Given the description of an element on the screen output the (x, y) to click on. 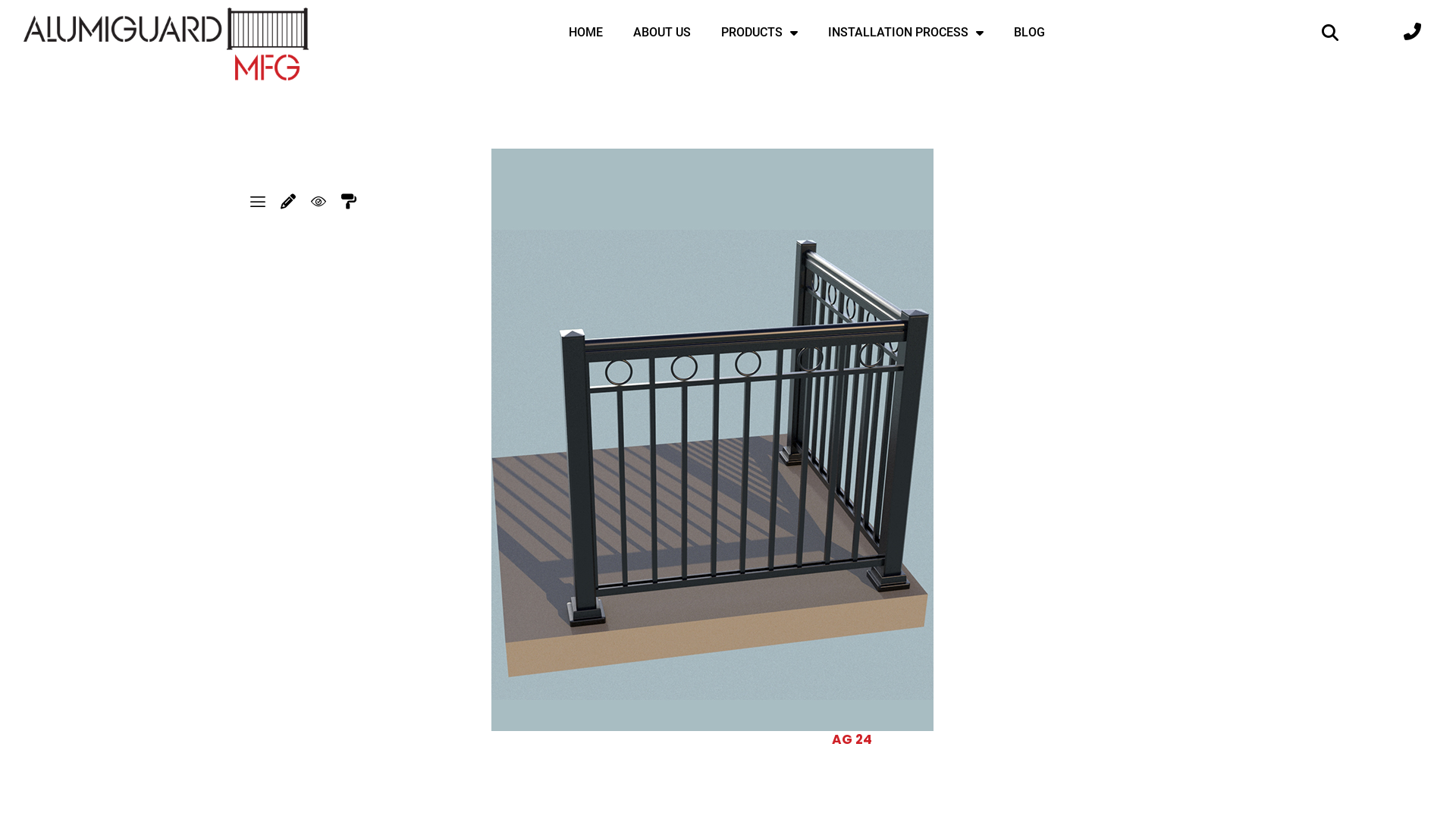
View Element type: hover (318, 201)
INSTALLATION PROCESS Element type: text (905, 32)
Draw Element type: hover (288, 201)
HOME Element type: text (585, 32)
PRODUCTS Element type: text (759, 32)
Aluminum Picket Railings Element type: hover (712, 439)
Device Element type: hover (257, 201)
Colours Element type: hover (348, 201)
ABOUT US Element type: text (662, 32)
BLOG Element type: text (1029, 32)
